Given the description of an element on the screen output the (x, y) to click on. 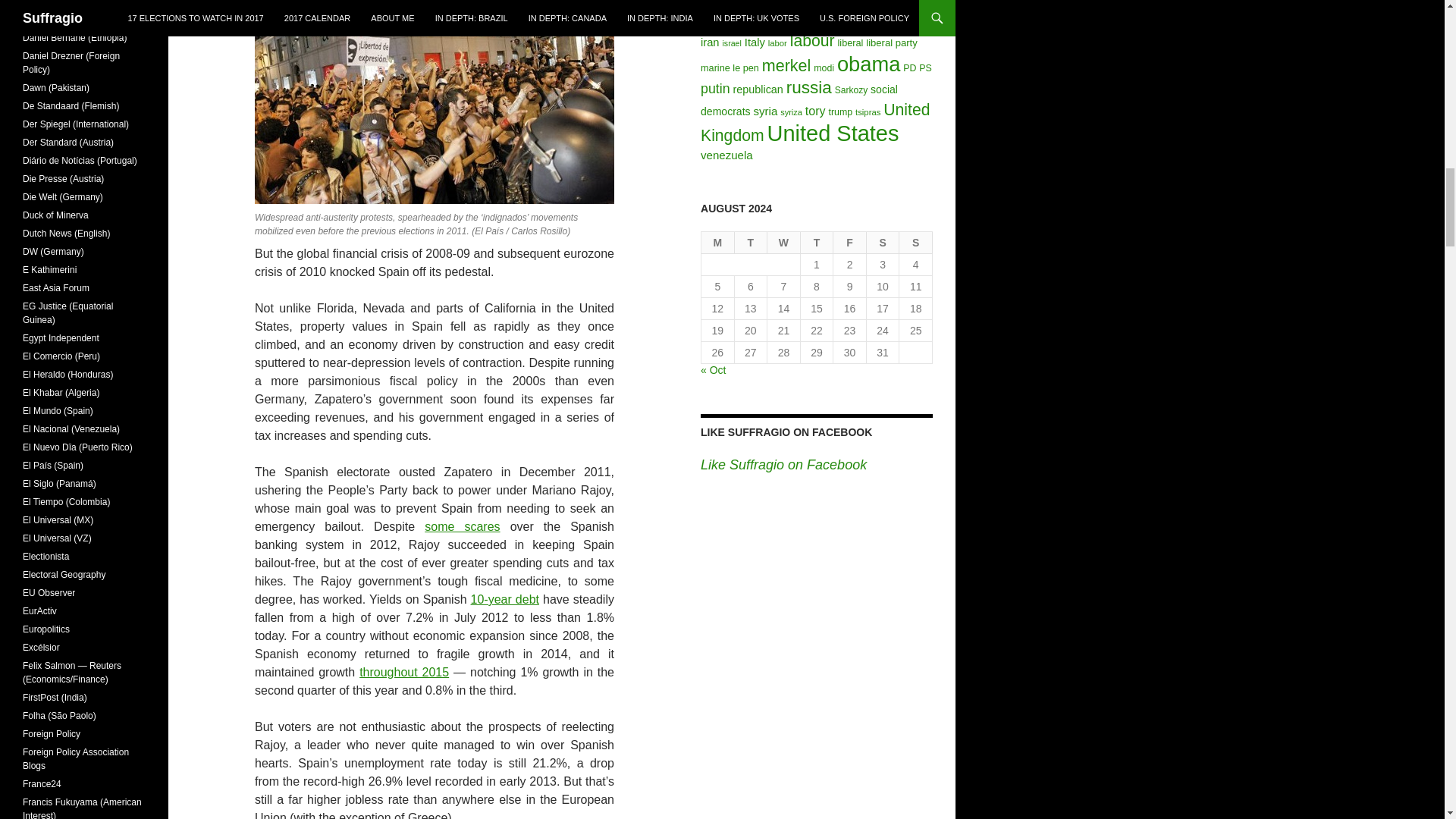
10-year debt (504, 599)
throughout 2015 (403, 671)
some scares (462, 526)
